Given the description of an element on the screen output the (x, y) to click on. 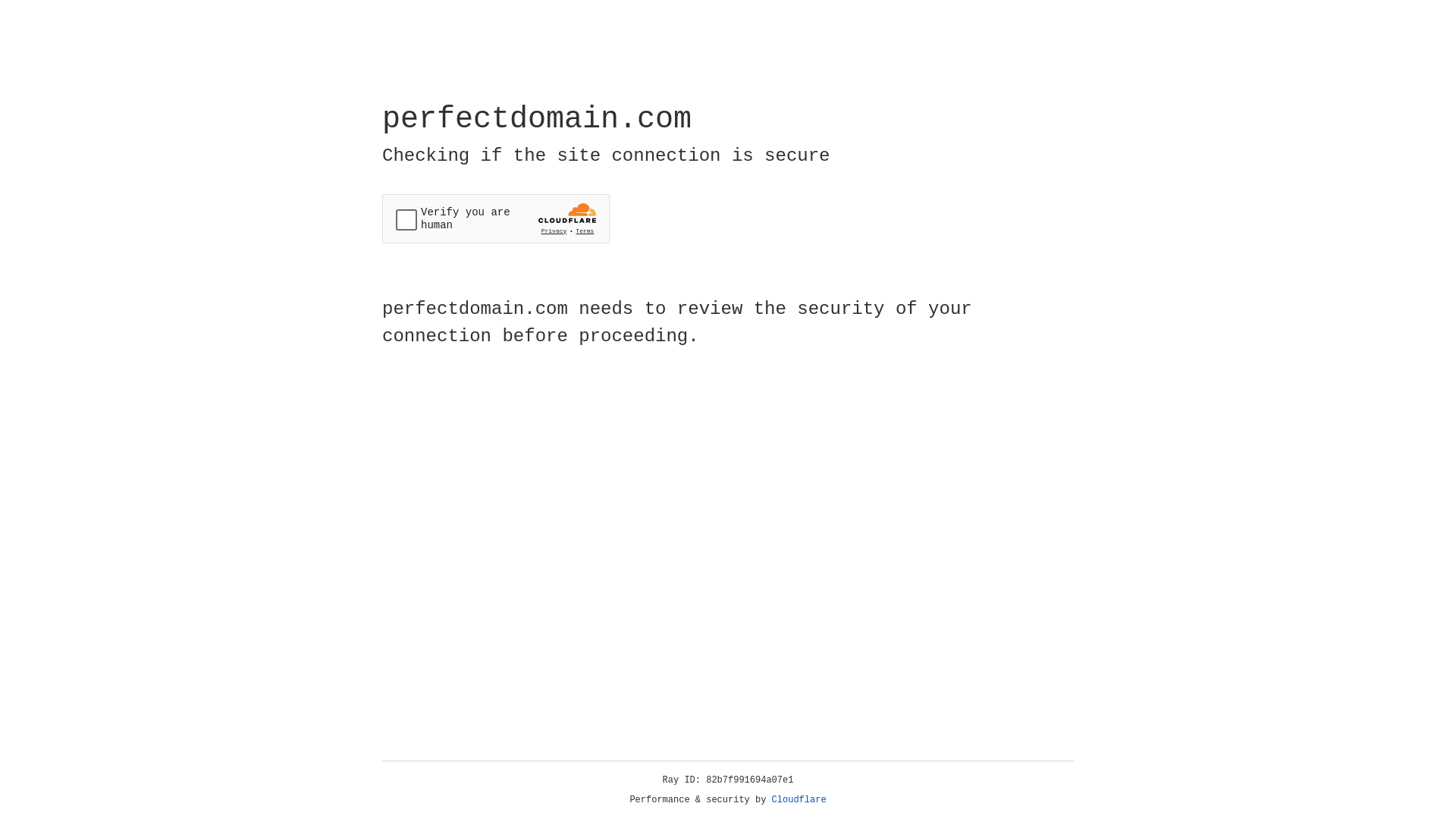
Widget containing a Cloudflare security challenge Element type: hover (495, 218)
Cloudflare Element type: text (798, 799)
